Given the description of an element on the screen output the (x, y) to click on. 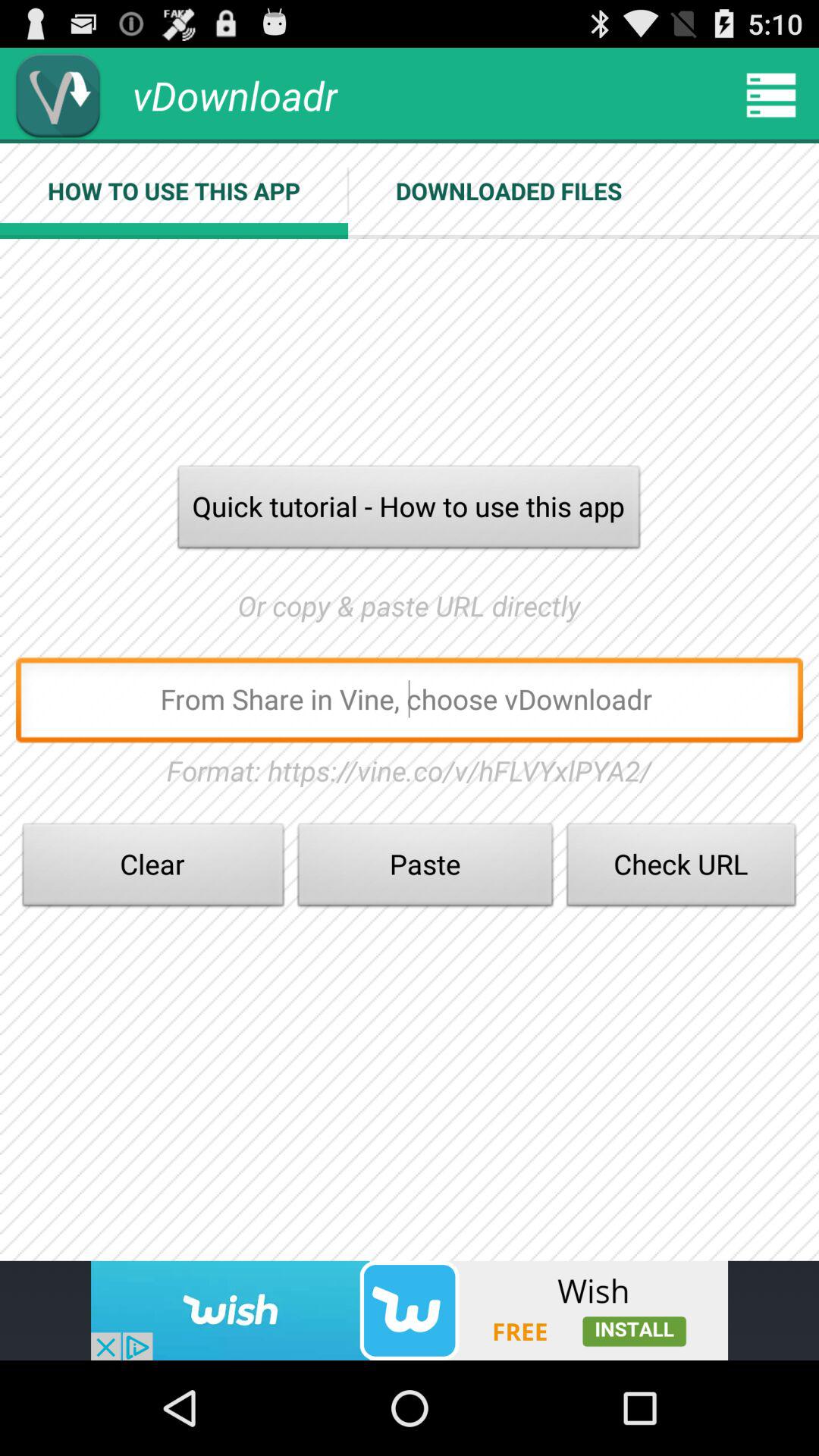
visit sponsored advertisement 's site (409, 1310)
